Given the description of an element on the screen output the (x, y) to click on. 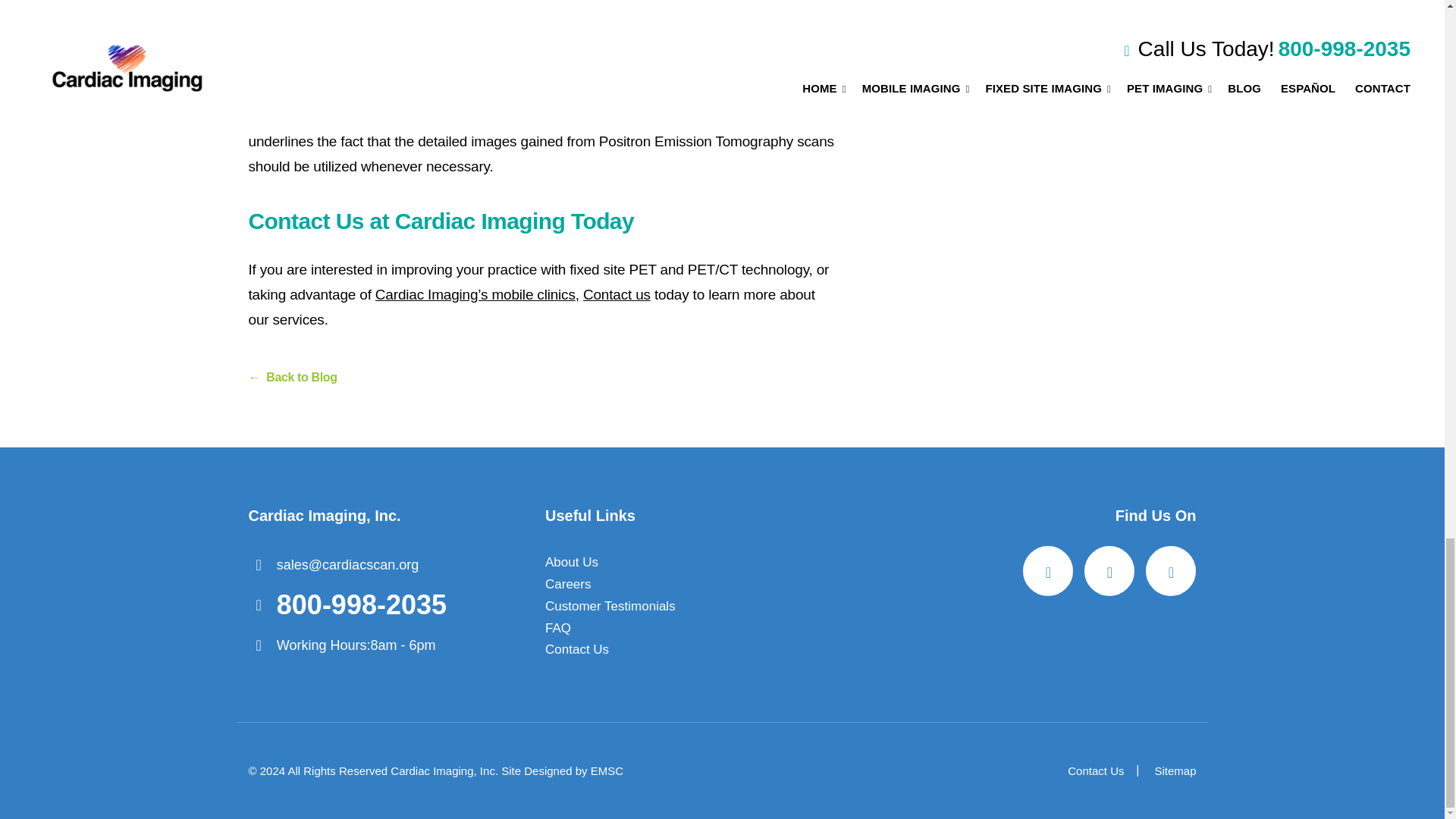
Careers (567, 584)
About Us (571, 562)
800-998-2035 (347, 605)
Contact us (616, 294)
